Given the description of an element on the screen output the (x, y) to click on. 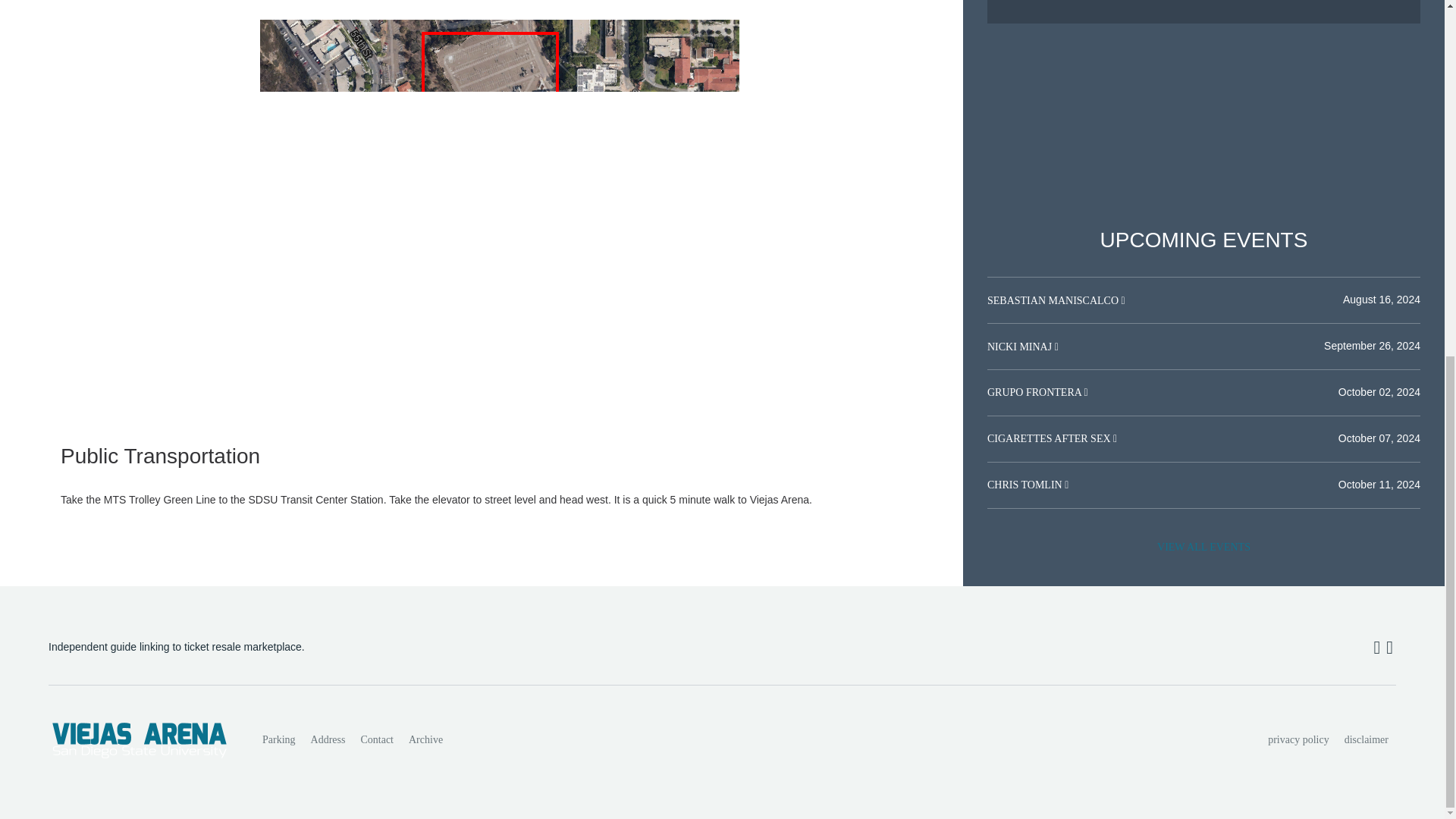
Address (327, 739)
Contact (376, 739)
CIGARETTES AFTER SEX (1050, 438)
VIEW ALL EVENTS (1203, 547)
Archive (425, 739)
Parking (278, 739)
CHRIS TOMLIN (1025, 484)
privacy policy (1298, 739)
SEBASTIAN MANISCALCO (1054, 300)
NICKI MINAJ (1020, 346)
disclaimer (1366, 739)
